Given the description of an element on the screen output the (x, y) to click on. 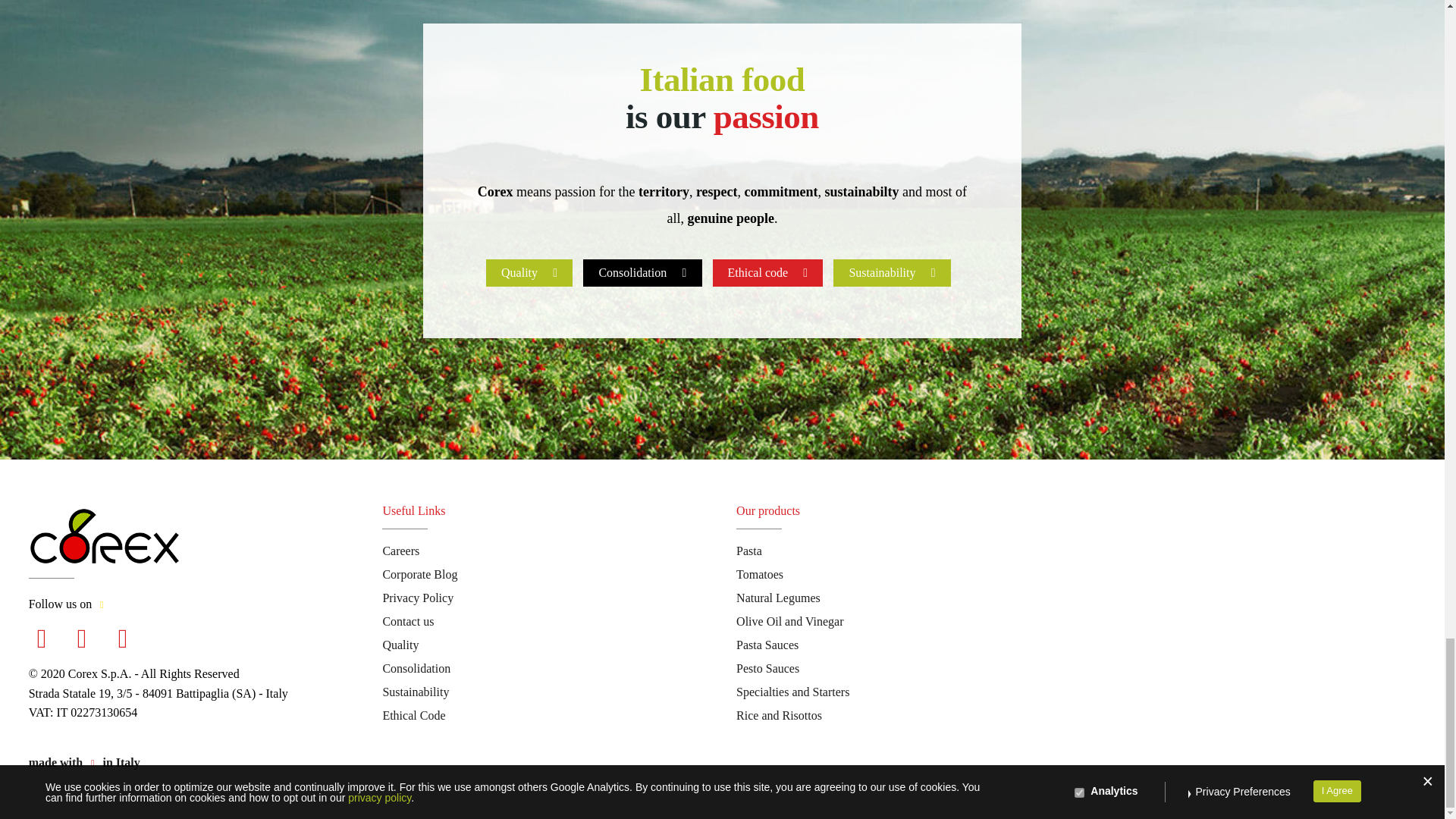
Ethical code (768, 271)
Prelibato - Food Marketing (100, 603)
Sustainability (891, 271)
prelibato (84, 762)
Quality (529, 271)
Useful Links (413, 510)
Consolidation (642, 271)
made with in Italy (84, 762)
